Given the description of an element on the screen output the (x, y) to click on. 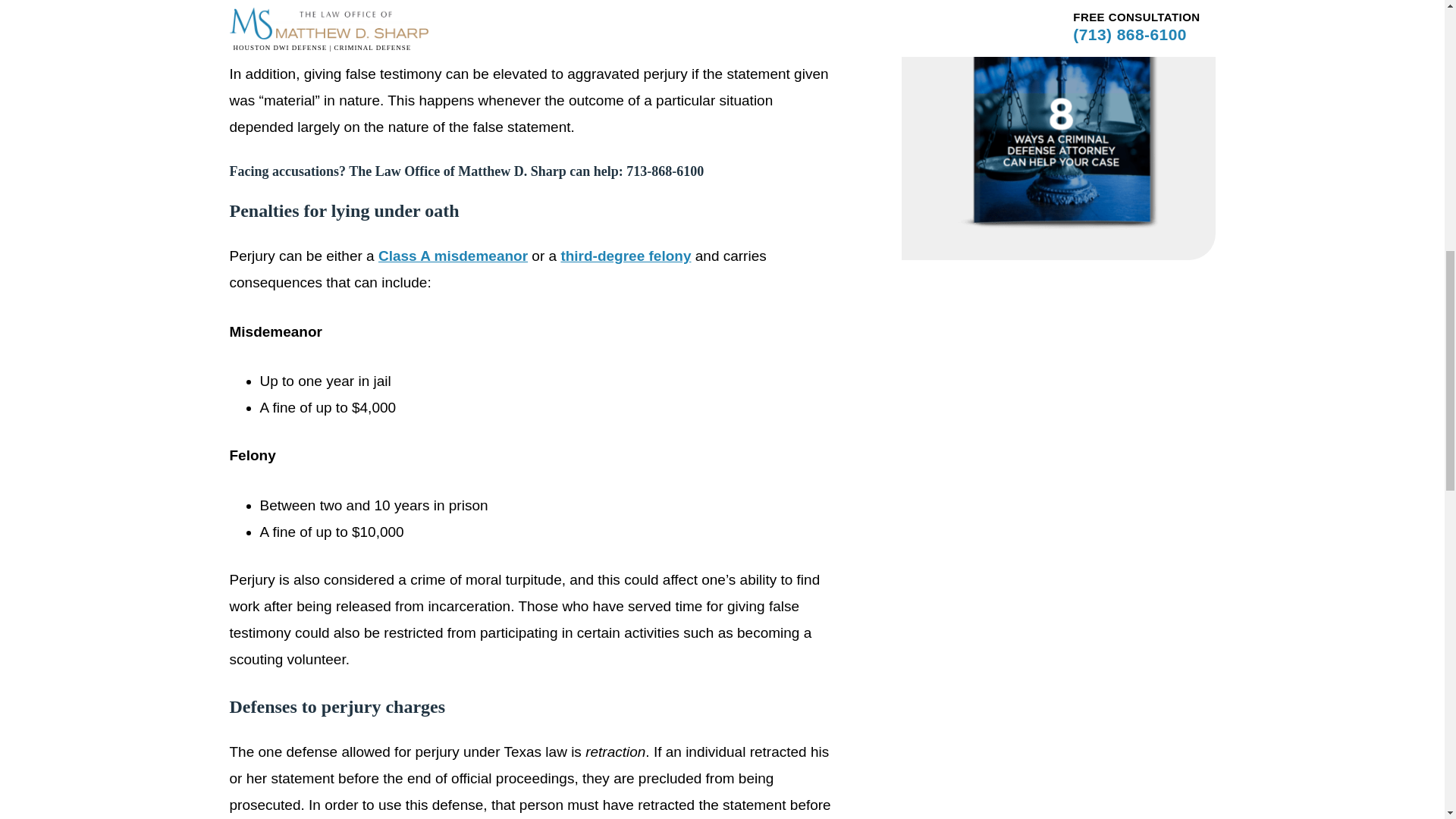
Class A misdemeanor (452, 255)
third-degree felony (625, 255)
8 Ways a Criminal Defense Attorney Can Help Your Case (1058, 224)
